Given the description of an element on the screen output the (x, y) to click on. 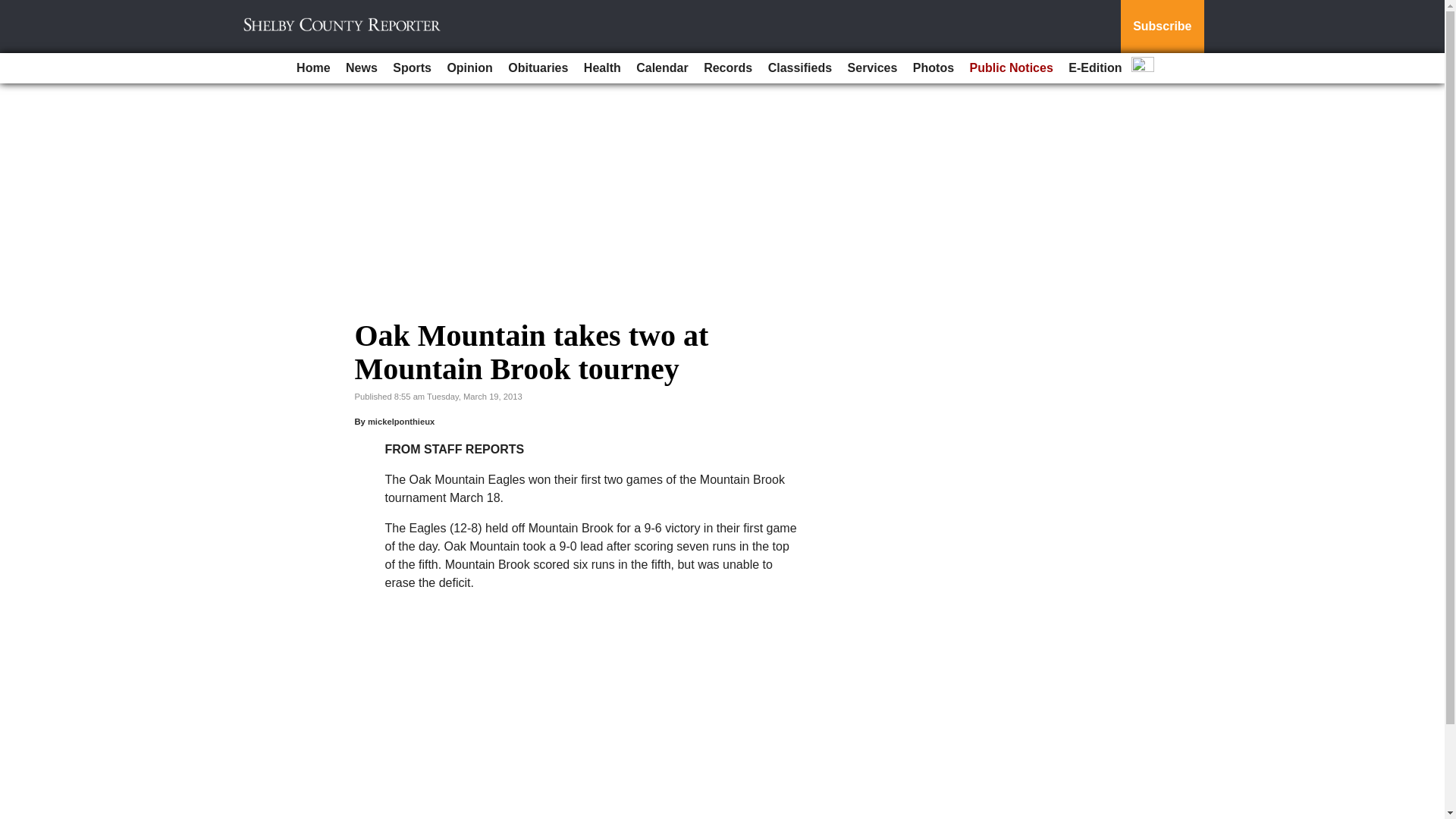
Opinion (469, 68)
Sports (412, 68)
Home (312, 68)
Records (727, 68)
Classifieds (799, 68)
Subscribe (1162, 26)
News (361, 68)
Obituaries (537, 68)
Health (602, 68)
Calendar (662, 68)
